Given the description of an element on the screen output the (x, y) to click on. 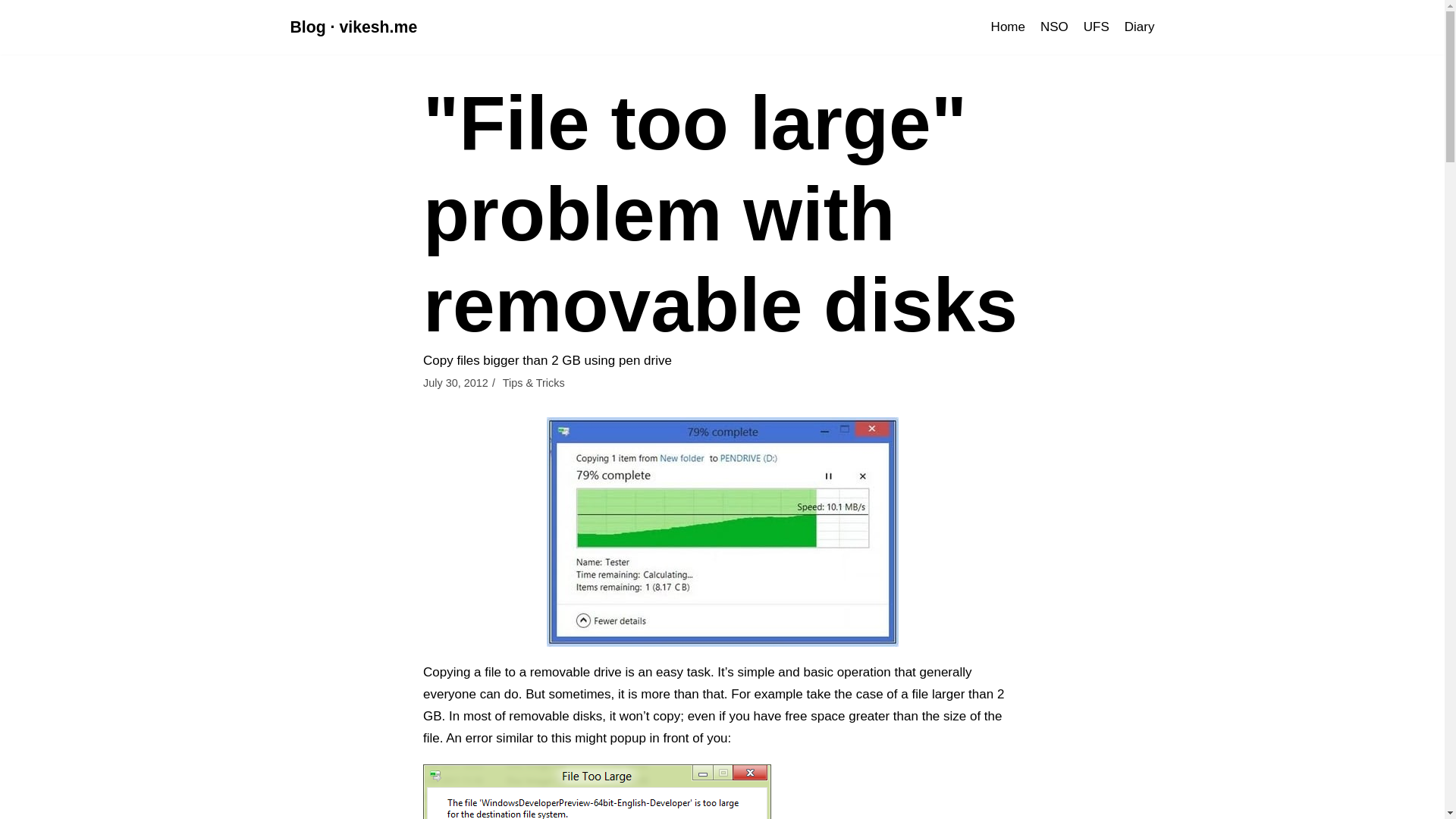
Diary (1139, 26)
Blogger (352, 26)
Home (1008, 26)
UFS (1096, 26)
NSO (1054, 26)
Skip to content (15, 31)
